Given the description of an element on the screen output the (x, y) to click on. 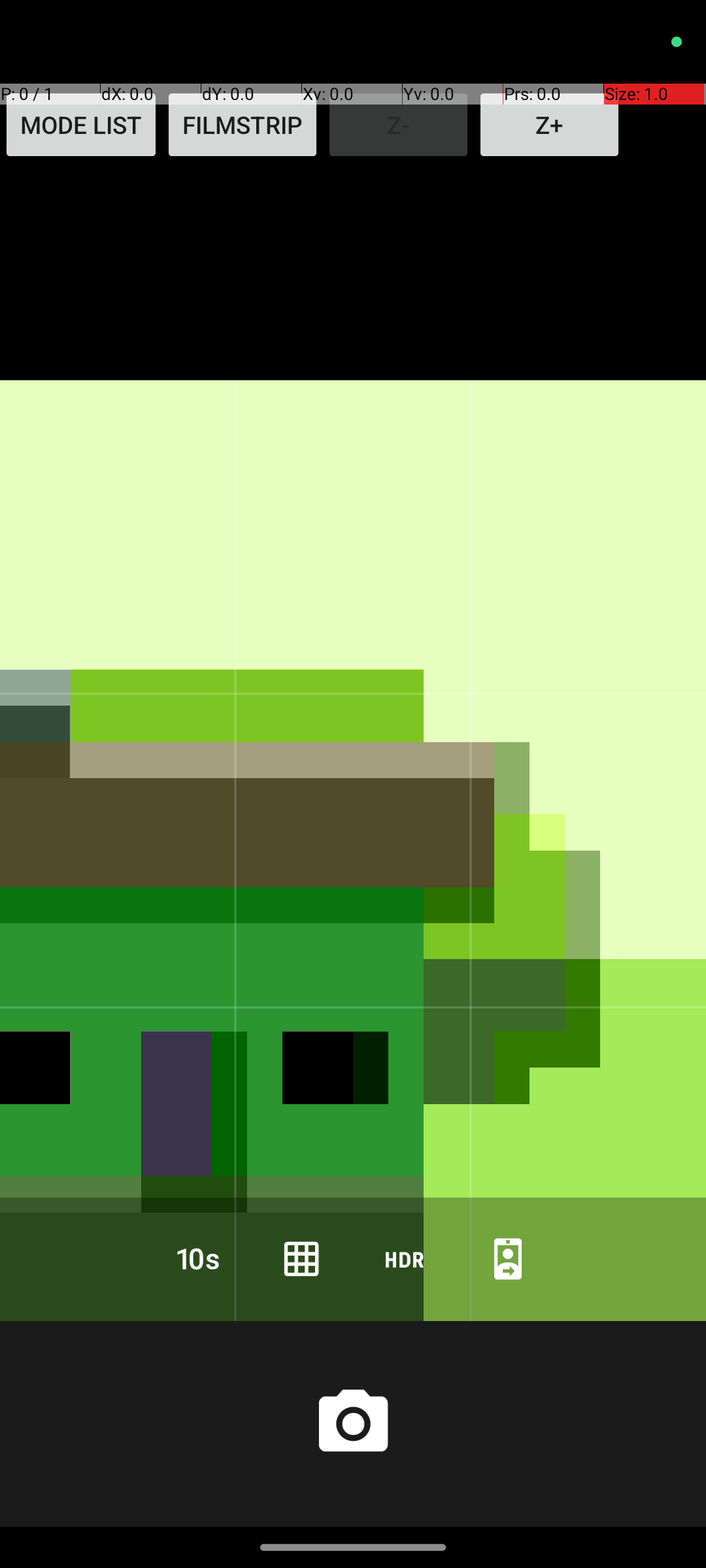
Countdown timer duration is set to 10 seconds Element type: android.widget.ImageButton (197, 1258)
HDR on Element type: android.widget.ImageButton (404, 1258)
